Given the description of an element on the screen output the (x, y) to click on. 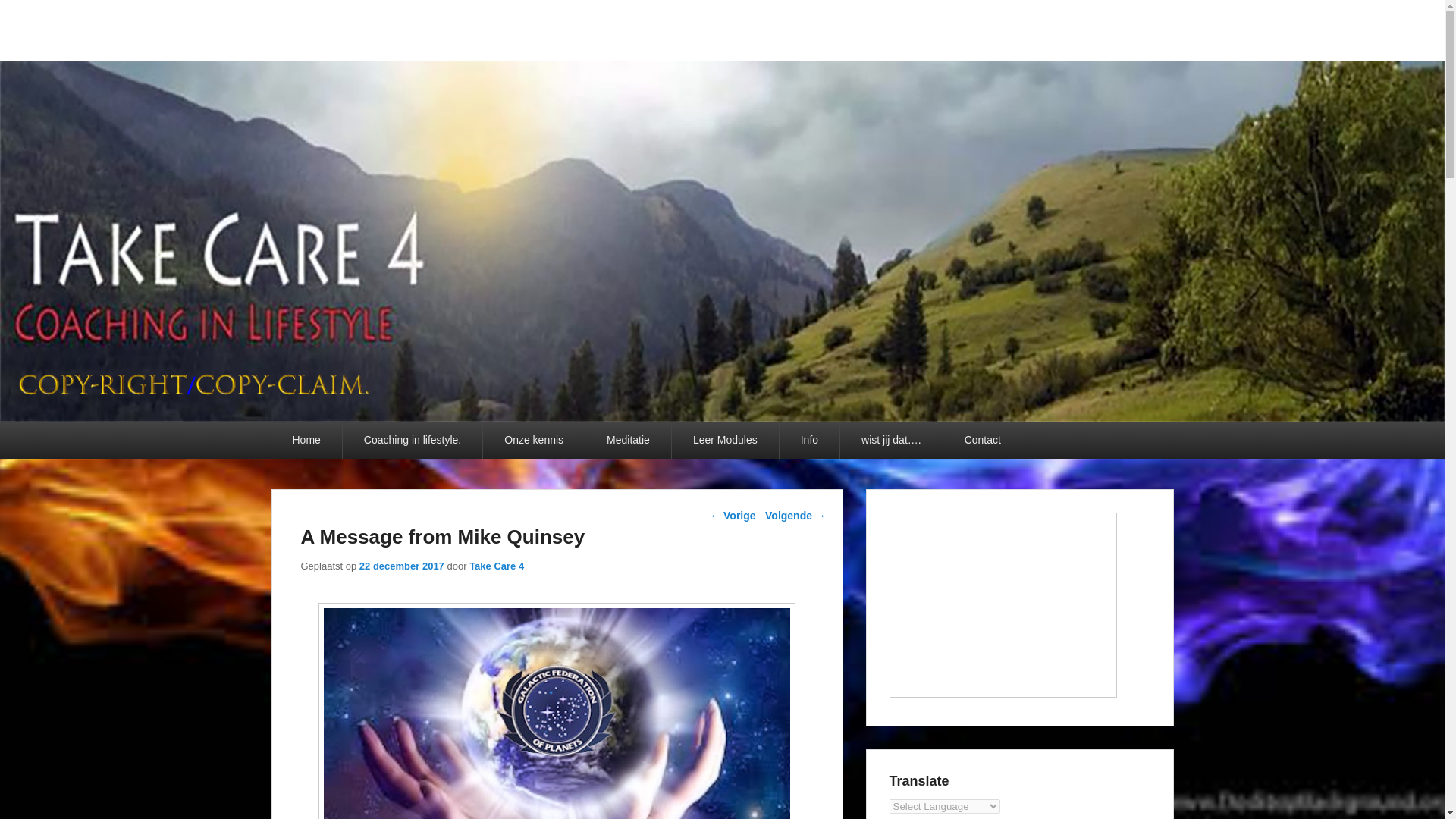
Meditatie (628, 439)
Onze kennis (534, 439)
Take care 4 (364, 48)
Coaching in lifestyle. (411, 439)
Leer Modules (724, 439)
Info (809, 439)
05:13 (401, 565)
Home (306, 439)
Take care 4 (364, 48)
Alle berichten tonen van Take Care 4 (496, 565)
